Given the description of an element on the screen output the (x, y) to click on. 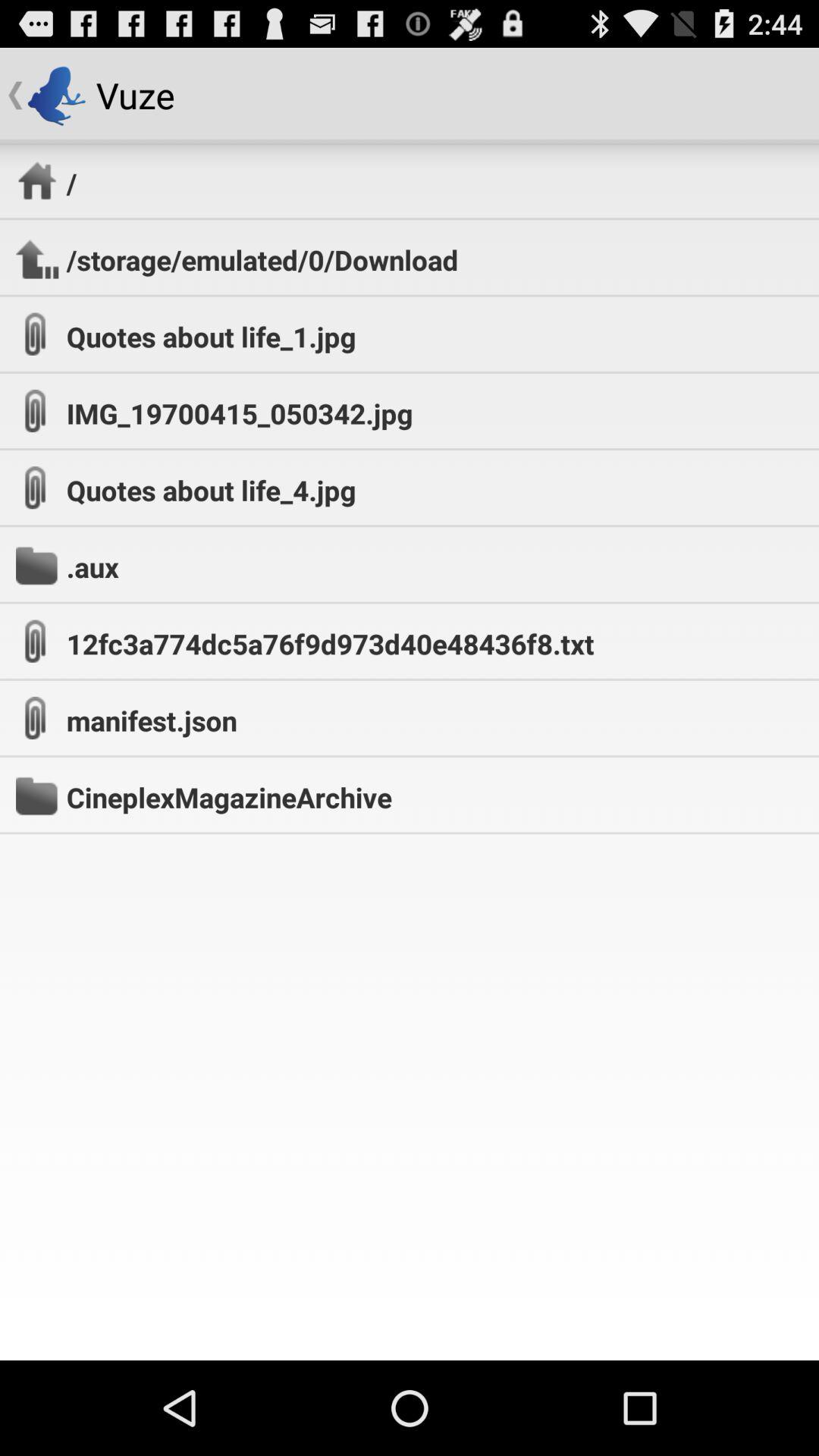
jump until the img_19700415_050342.jpg item (239, 413)
